Given the description of an element on the screen output the (x, y) to click on. 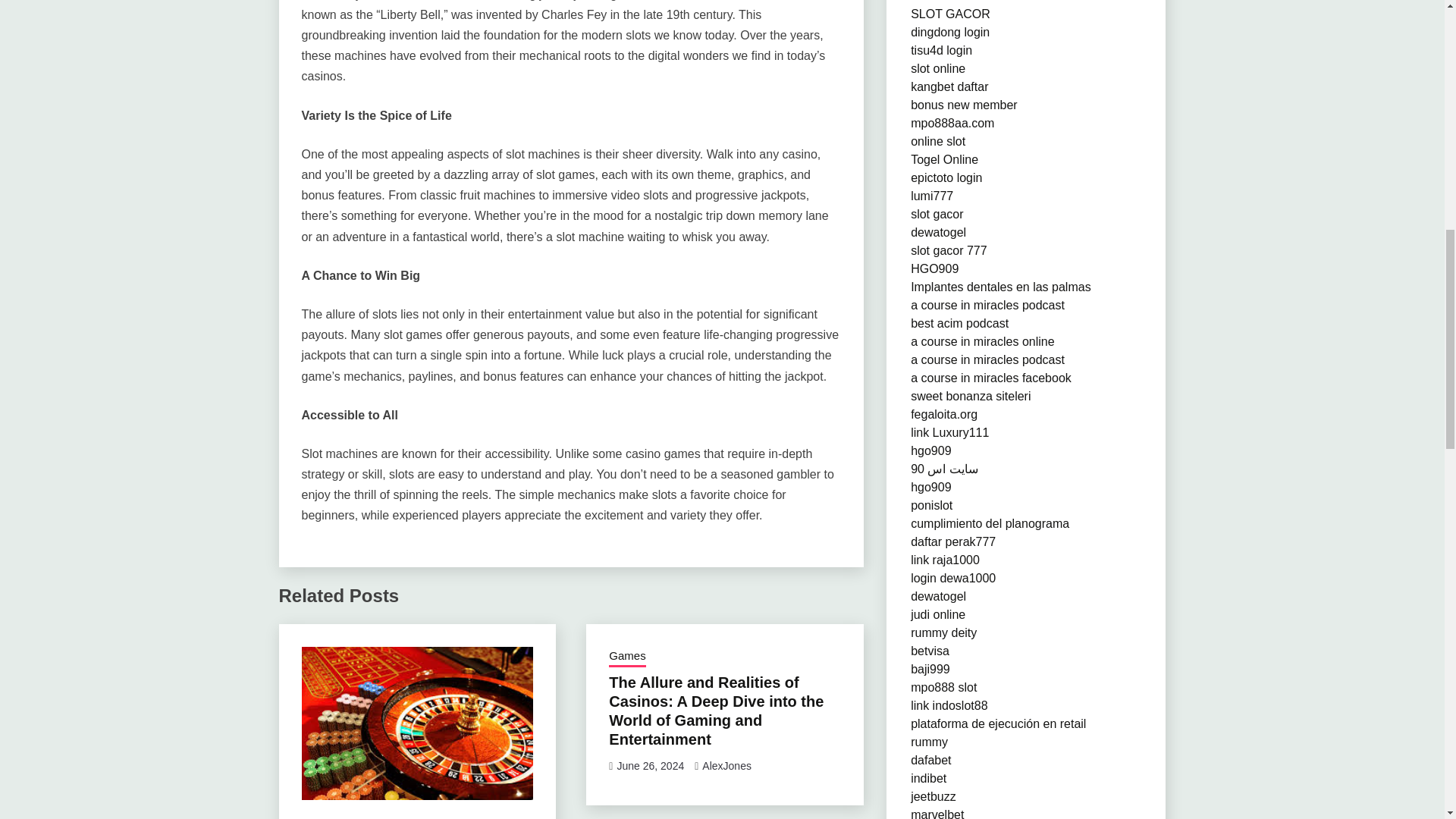
Games (626, 657)
Games (319, 817)
June 26, 2024 (649, 766)
AlexJones (726, 766)
